Given the description of an element on the screen output the (x, y) to click on. 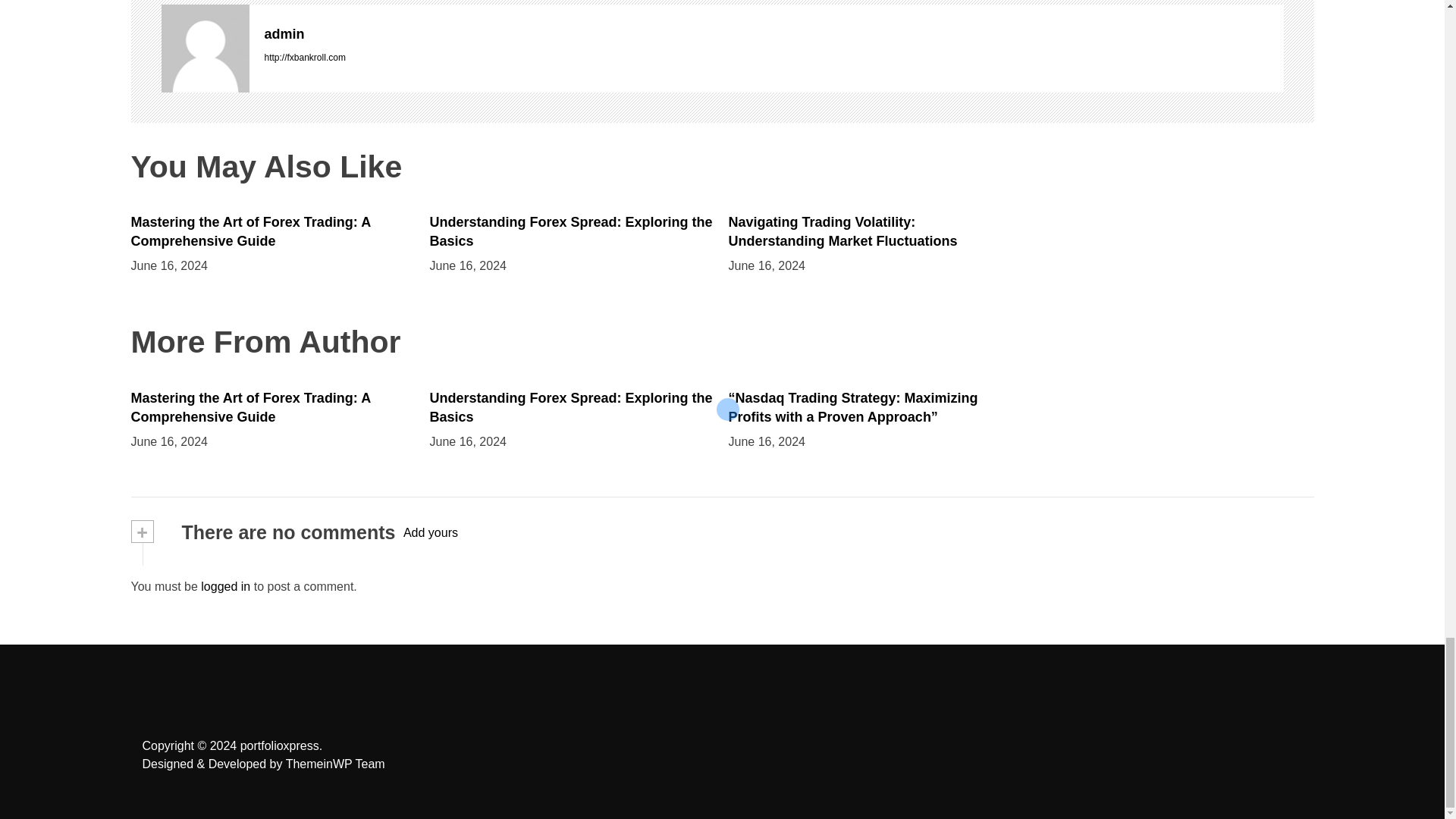
Mastering the Art of Forex Trading: A Comprehensive Guide (251, 407)
admin (204, 48)
Understanding Forex Spread: Exploring the Basics (570, 407)
admin (772, 34)
admin (772, 34)
Mastering the Art of Forex Trading: A Comprehensive Guide (251, 231)
Add yours (430, 533)
ThemeinWP Team (335, 763)
Understanding Forex Spread: Exploring the Basics (570, 231)
logged in (225, 585)
